Given the description of an element on the screen output the (x, y) to click on. 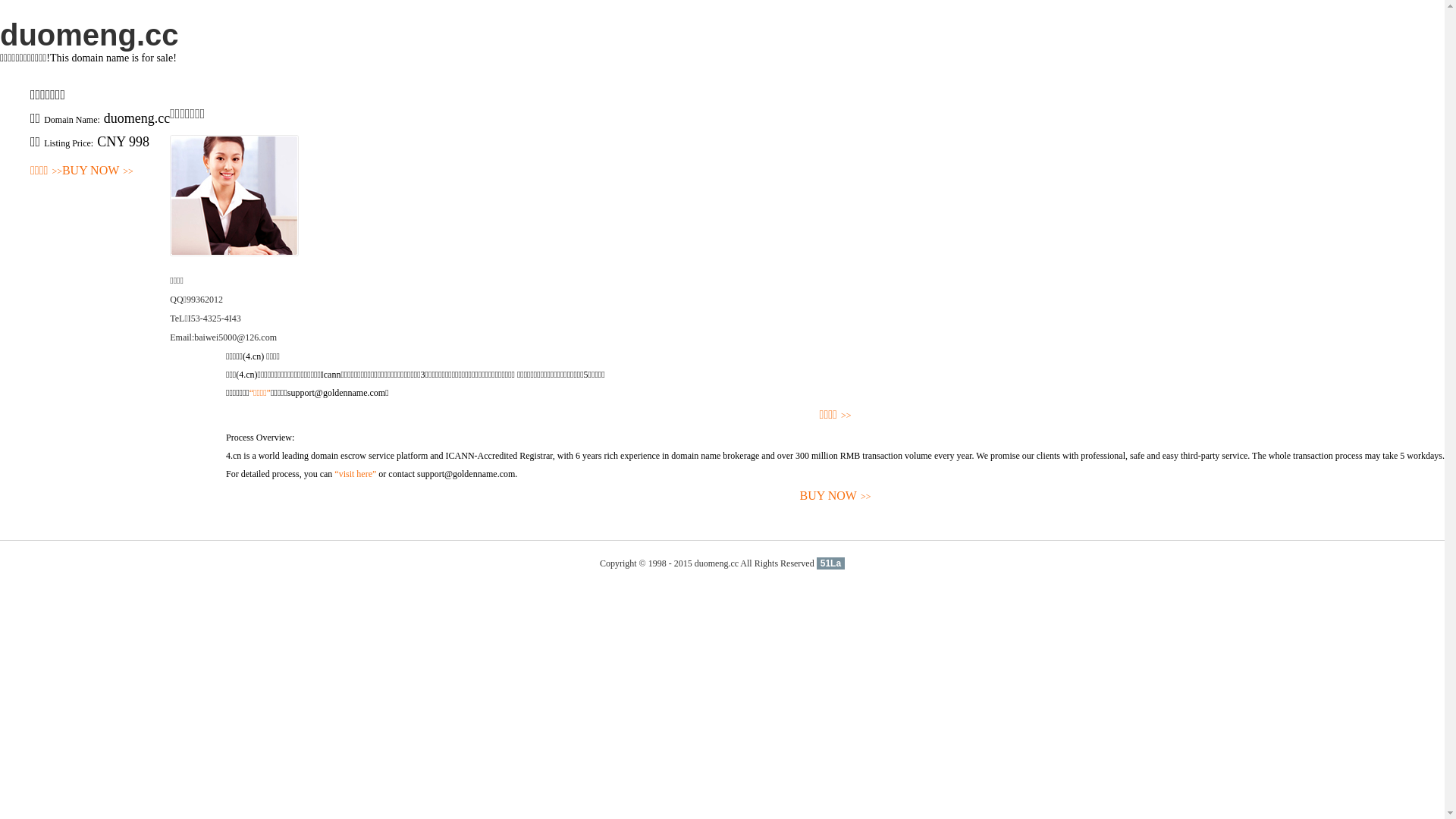
51La Element type: text (830, 563)
BUY NOW>> Element type: text (97, 170)
BUY NOW>> Element type: text (834, 496)
